Given the description of an element on the screen output the (x, y) to click on. 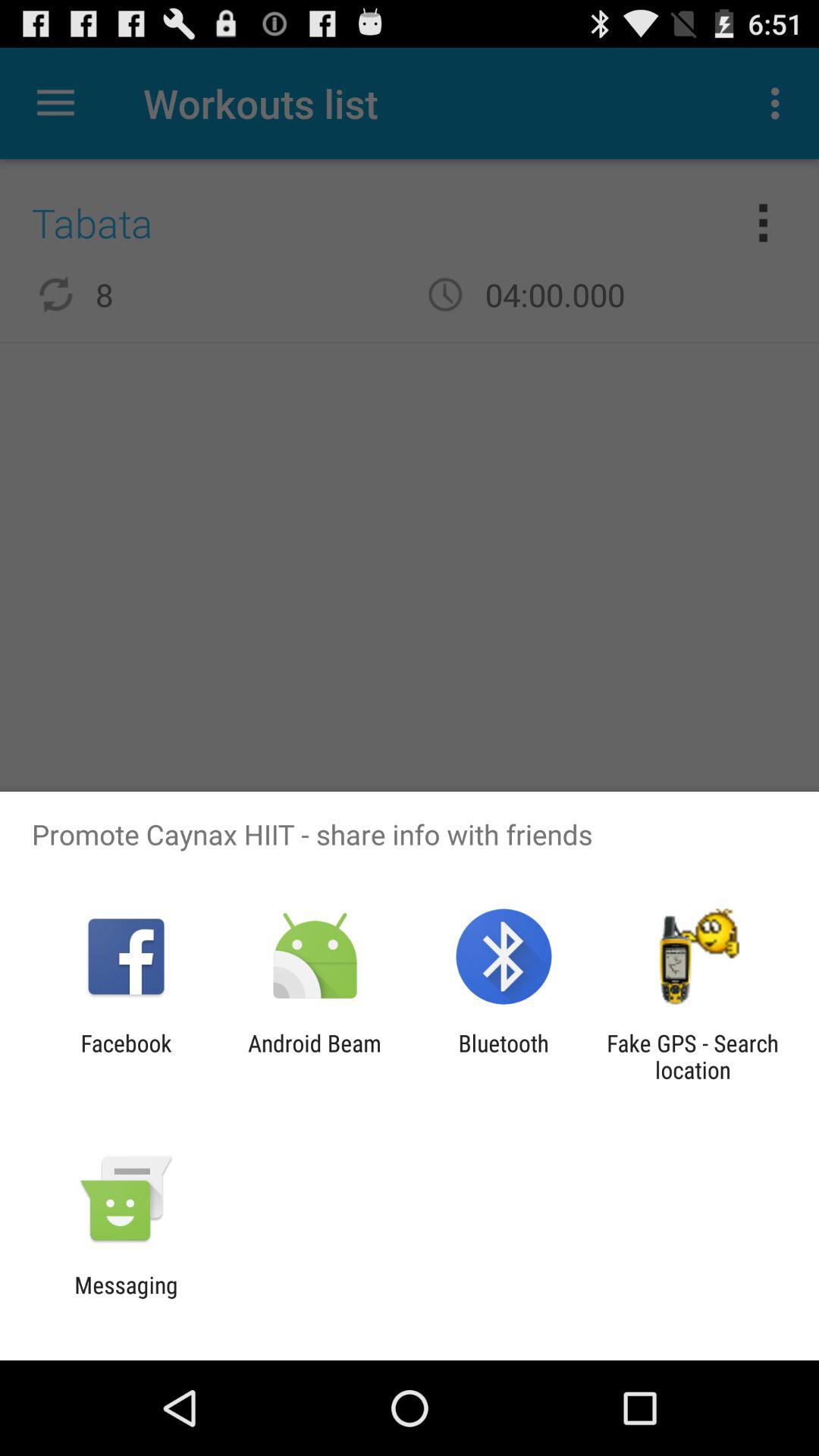
jump until bluetooth app (503, 1056)
